Given the description of an element on the screen output the (x, y) to click on. 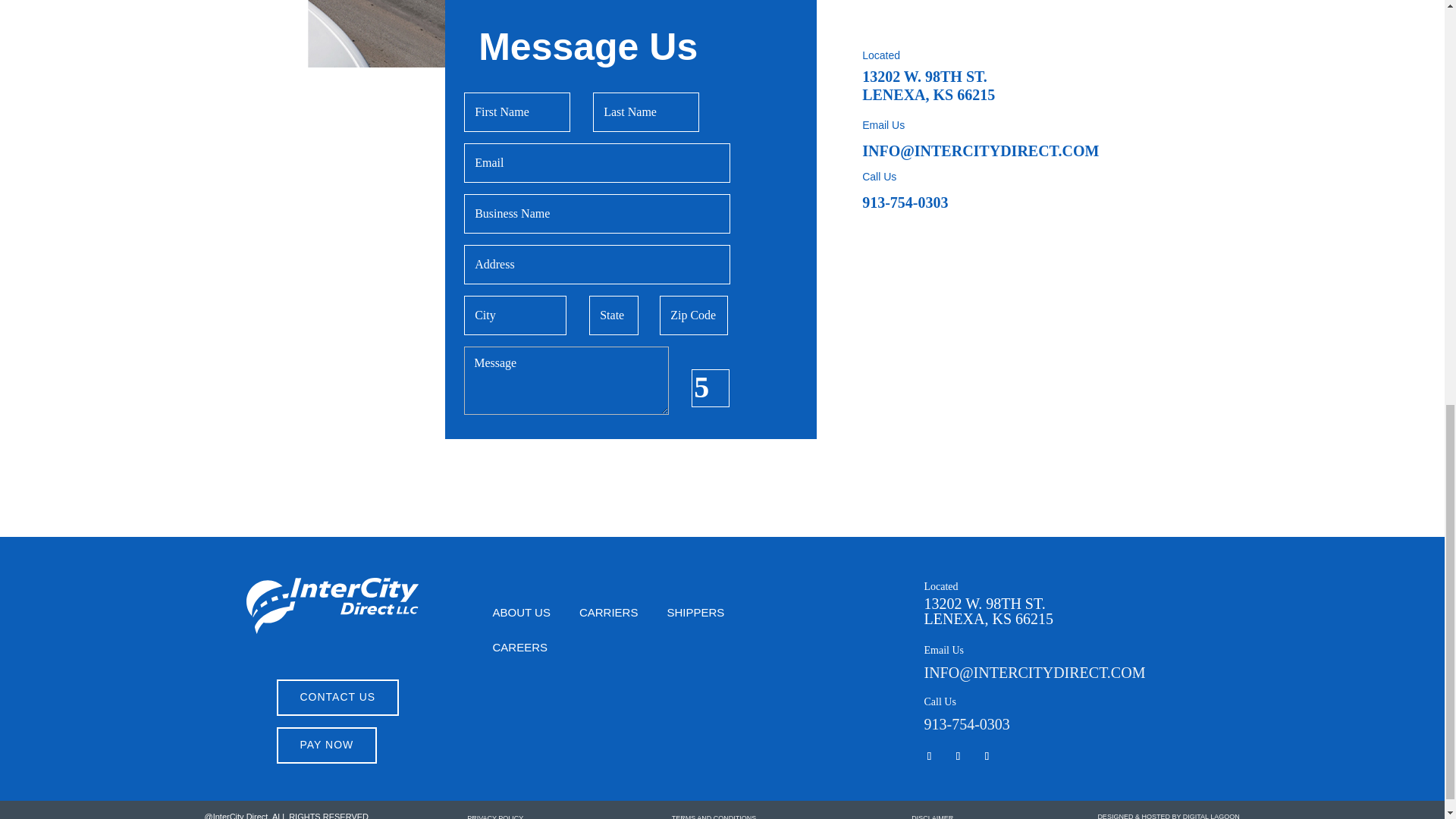
SHIPPERS (694, 615)
PRIVACY POLICY (503, 816)
TERMS AND CONDITIONS (722, 816)
CARRIERS (609, 615)
Follow on Facebook (957, 755)
913-754-0303 (966, 724)
ABOUT US (521, 615)
PAY NOW (326, 745)
913-754-0303 (904, 202)
DISCLAIMER (940, 816)
